Given the description of an element on the screen output the (x, y) to click on. 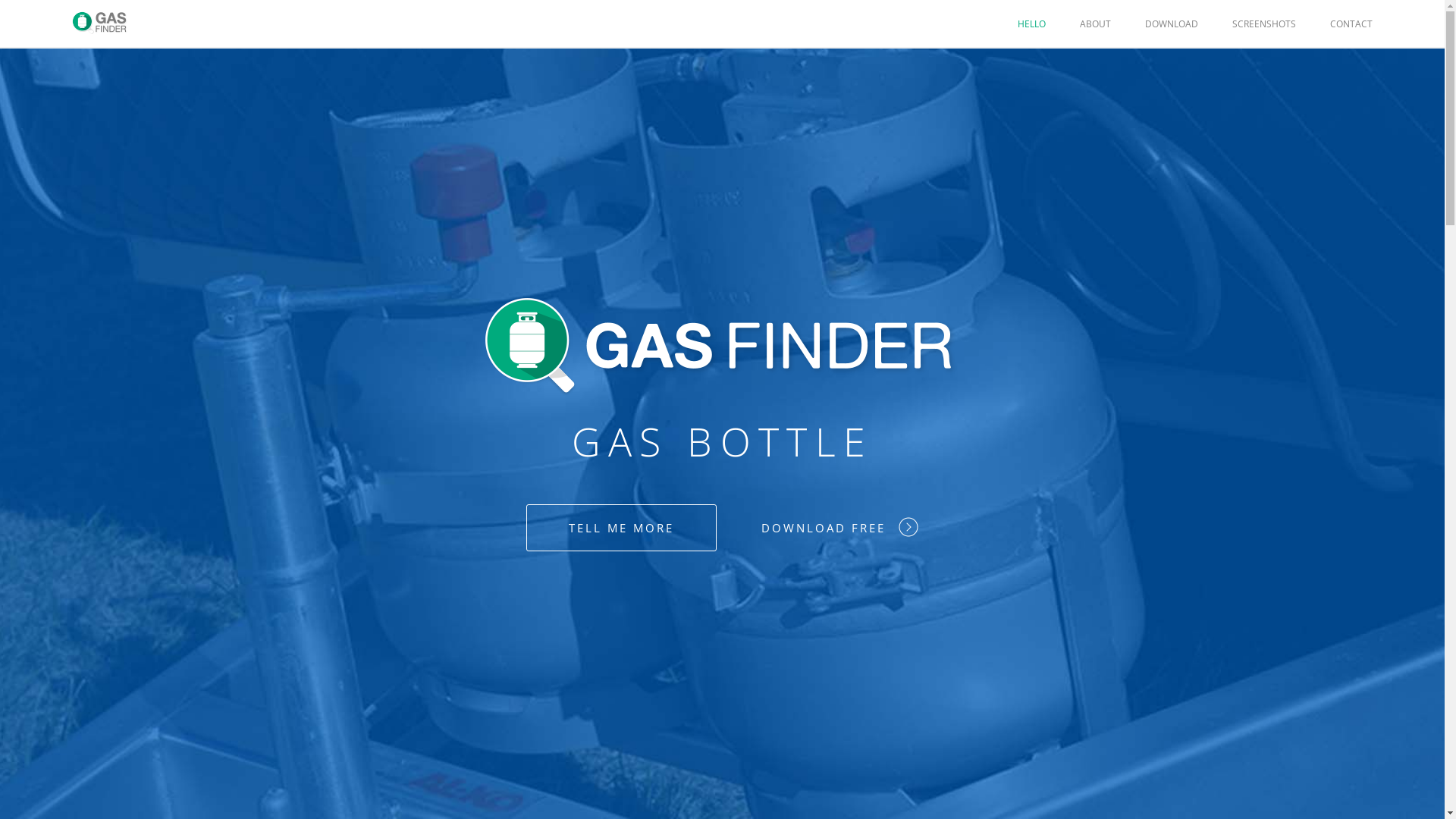
TELL ME MORE Element type: text (621, 527)
HELLO Element type: text (1031, 23)
DOWNLOAD Element type: text (1171, 23)
SCREENSHOTS Element type: text (1263, 23)
CONTACT Element type: text (1351, 23)
DOWNLOAD FREE Element type: text (839, 526)
ABOUT Element type: text (1094, 23)
